Given the description of an element on the screen output the (x, y) to click on. 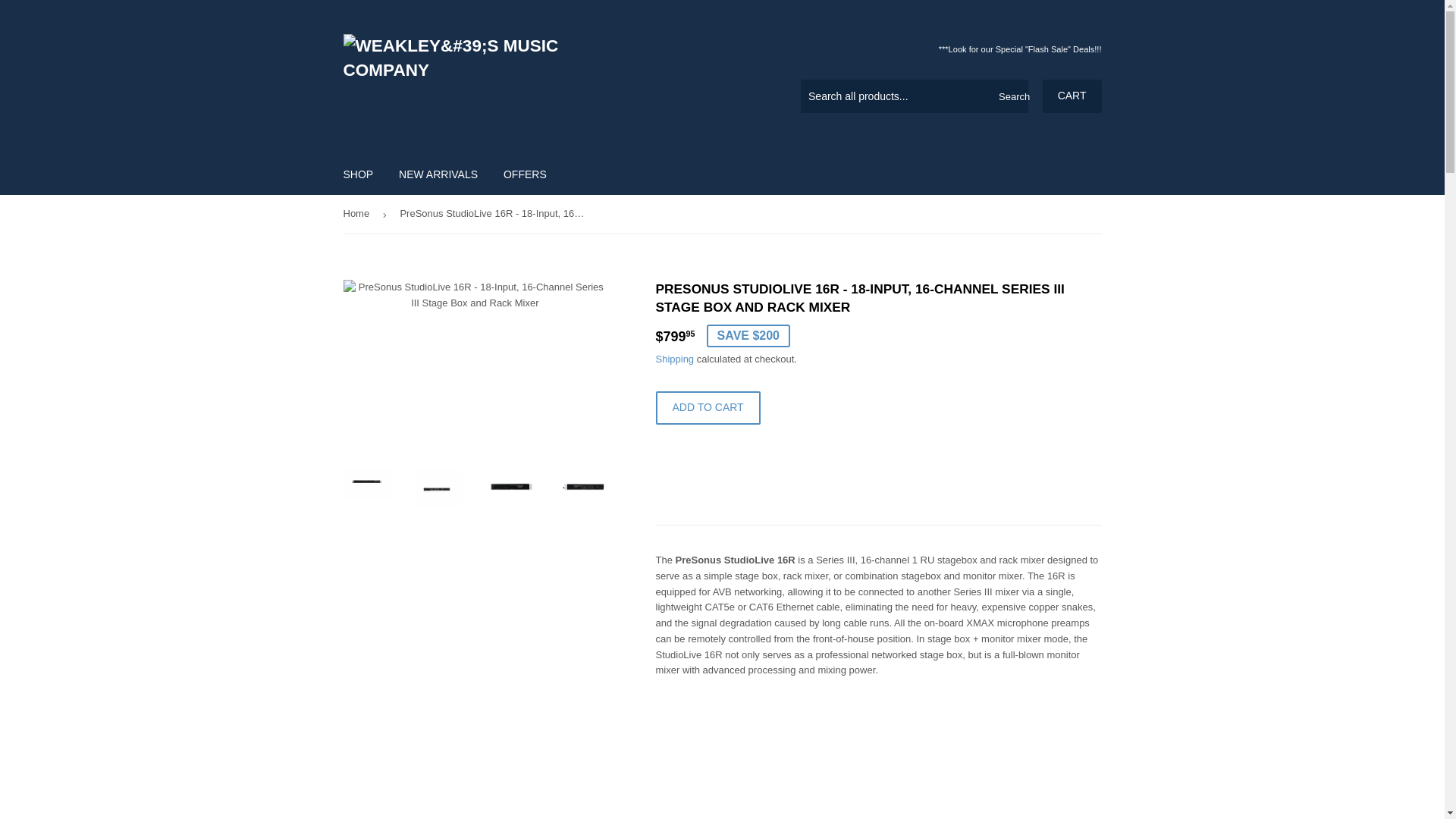
Search (1010, 97)
CART (1072, 96)
Shipping (674, 358)
OFFERS (524, 174)
Back to the frontpage (358, 213)
Home (358, 213)
NEW ARRIVALS (438, 174)
ADD TO CART (707, 408)
SHOP (358, 174)
